Given the description of an element on the screen output the (x, y) to click on. 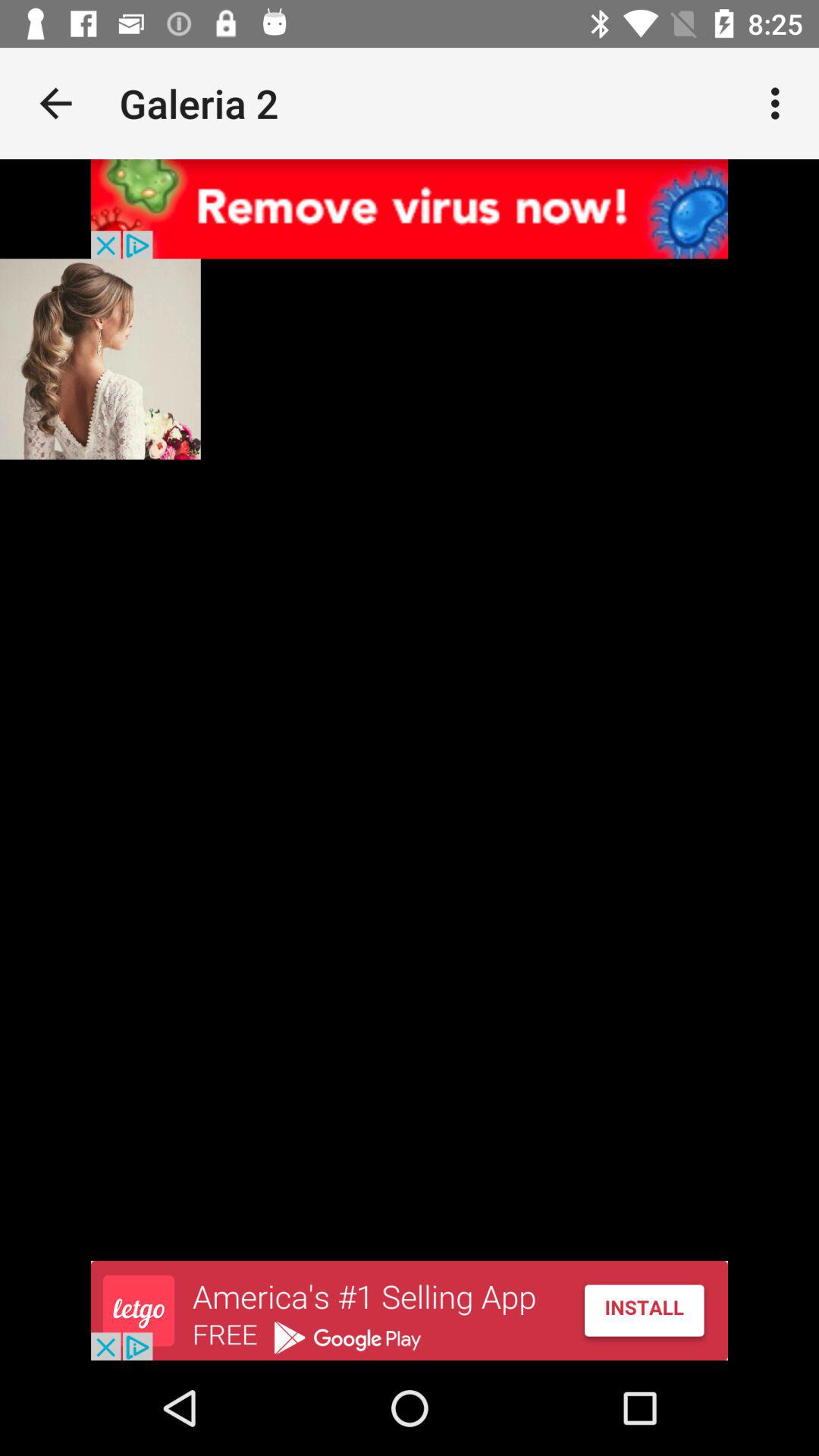
advertisement for selling (409, 1310)
